Given the description of an element on the screen output the (x, y) to click on. 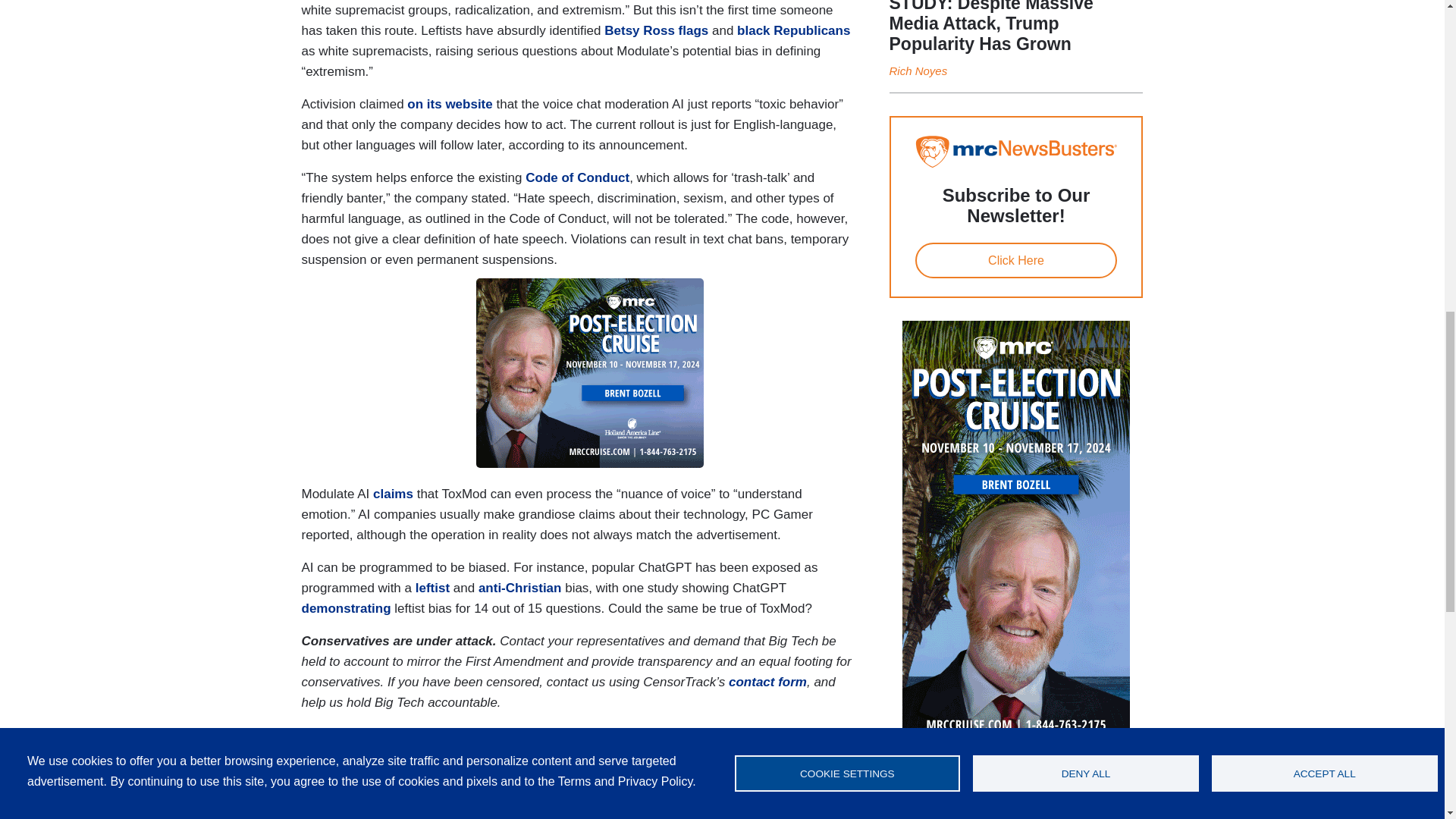
Giving Form (577, 745)
